Given the description of an element on the screen output the (x, y) to click on. 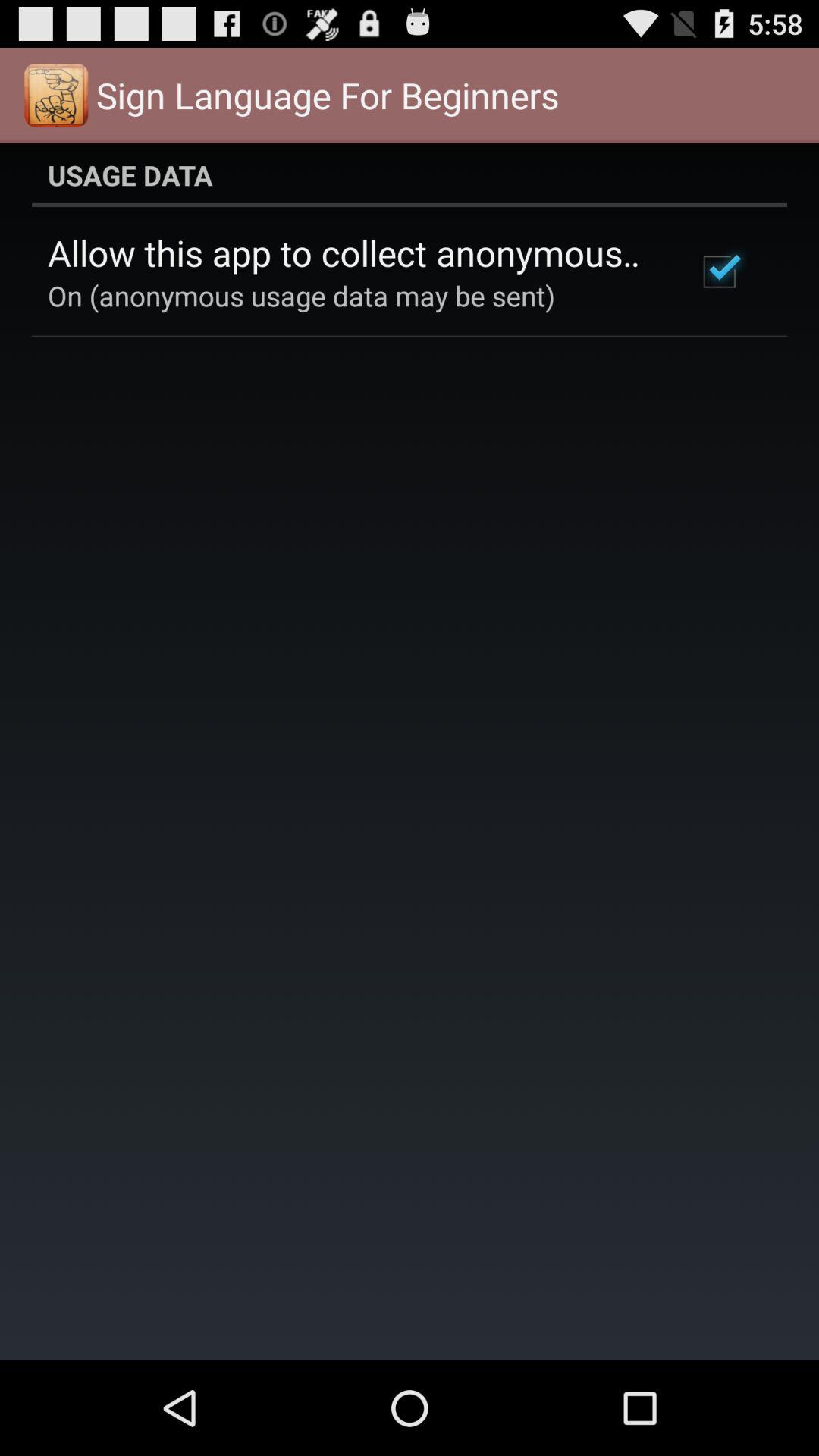
turn off the icon at the top right corner (719, 271)
